Given the description of an element on the screen output the (x, y) to click on. 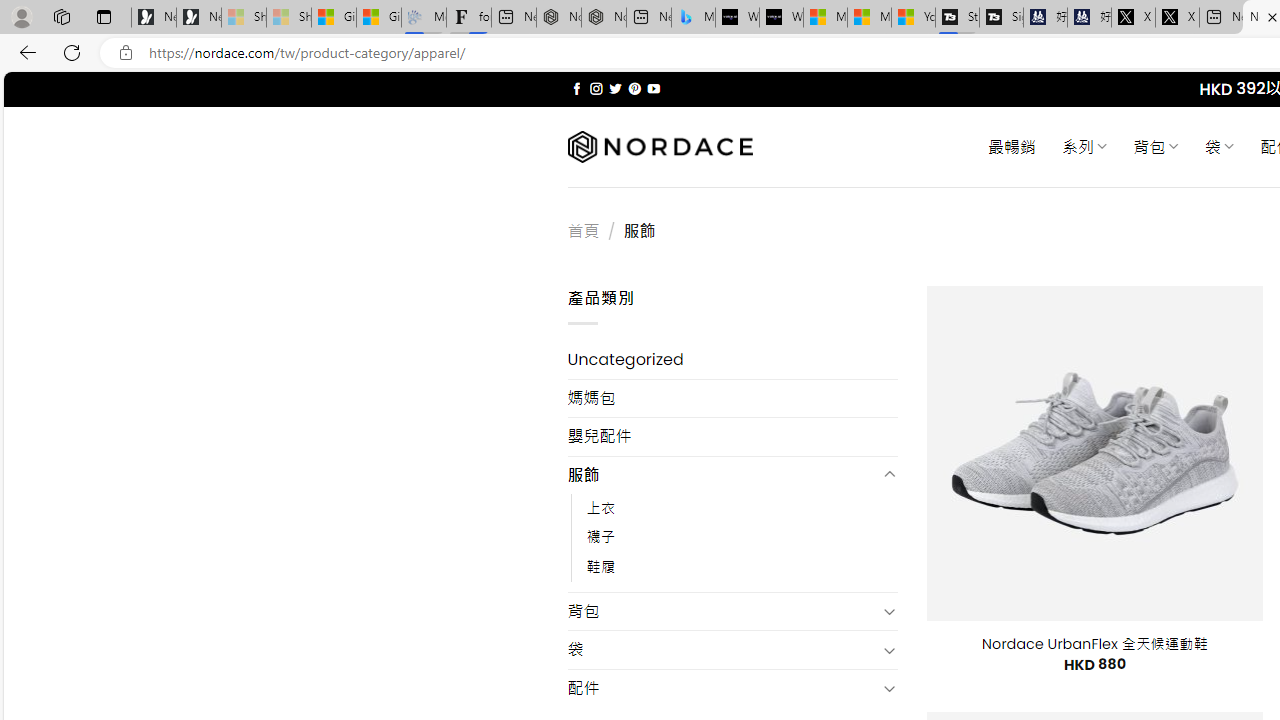
Uncategorized (732, 359)
X (1177, 17)
Follow on Instagram (596, 88)
